Given the description of an element on the screen output the (x, y) to click on. 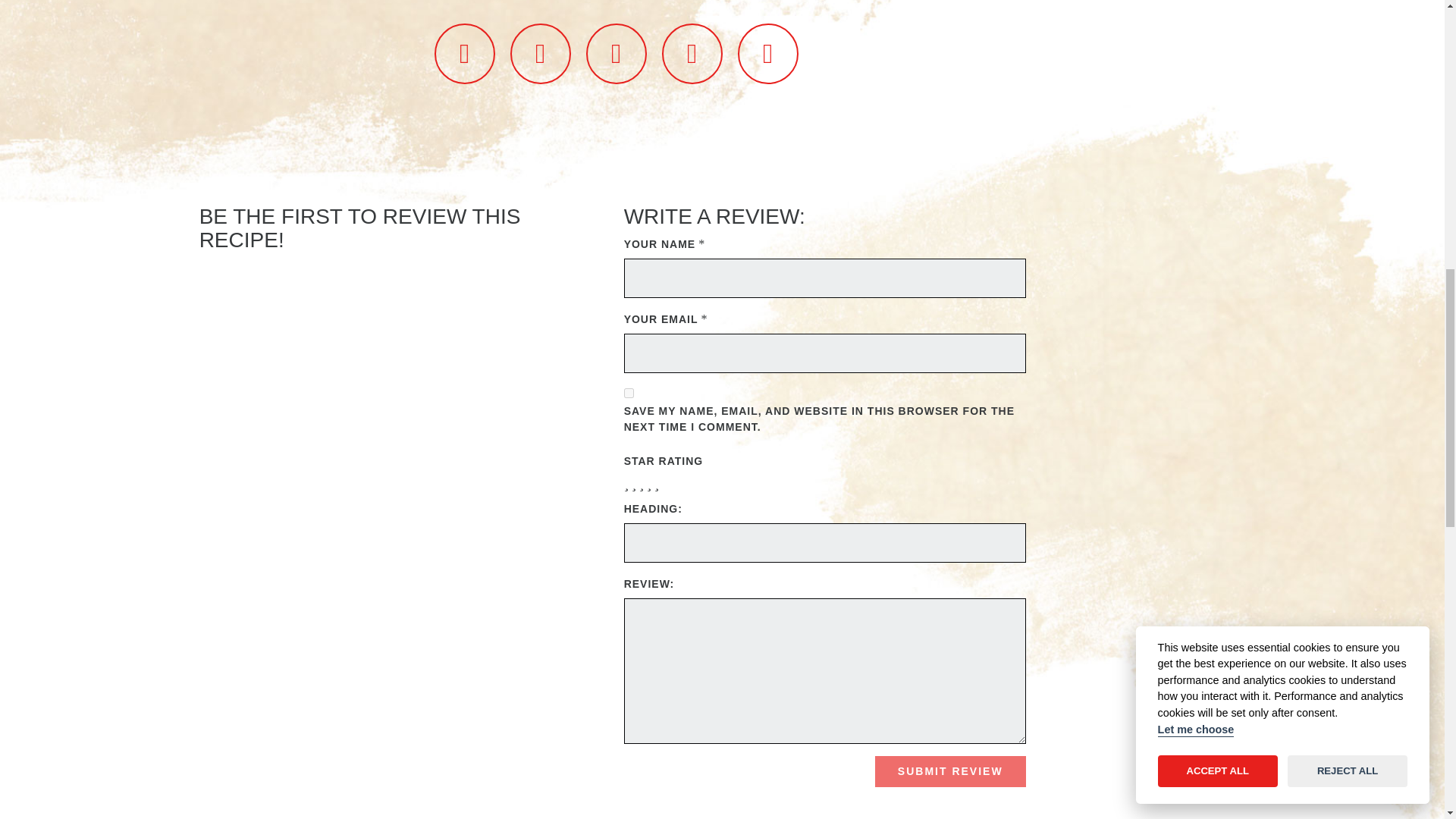
Submit Review (950, 771)
yes (628, 393)
